Given the description of an element on the screen output the (x, y) to click on. 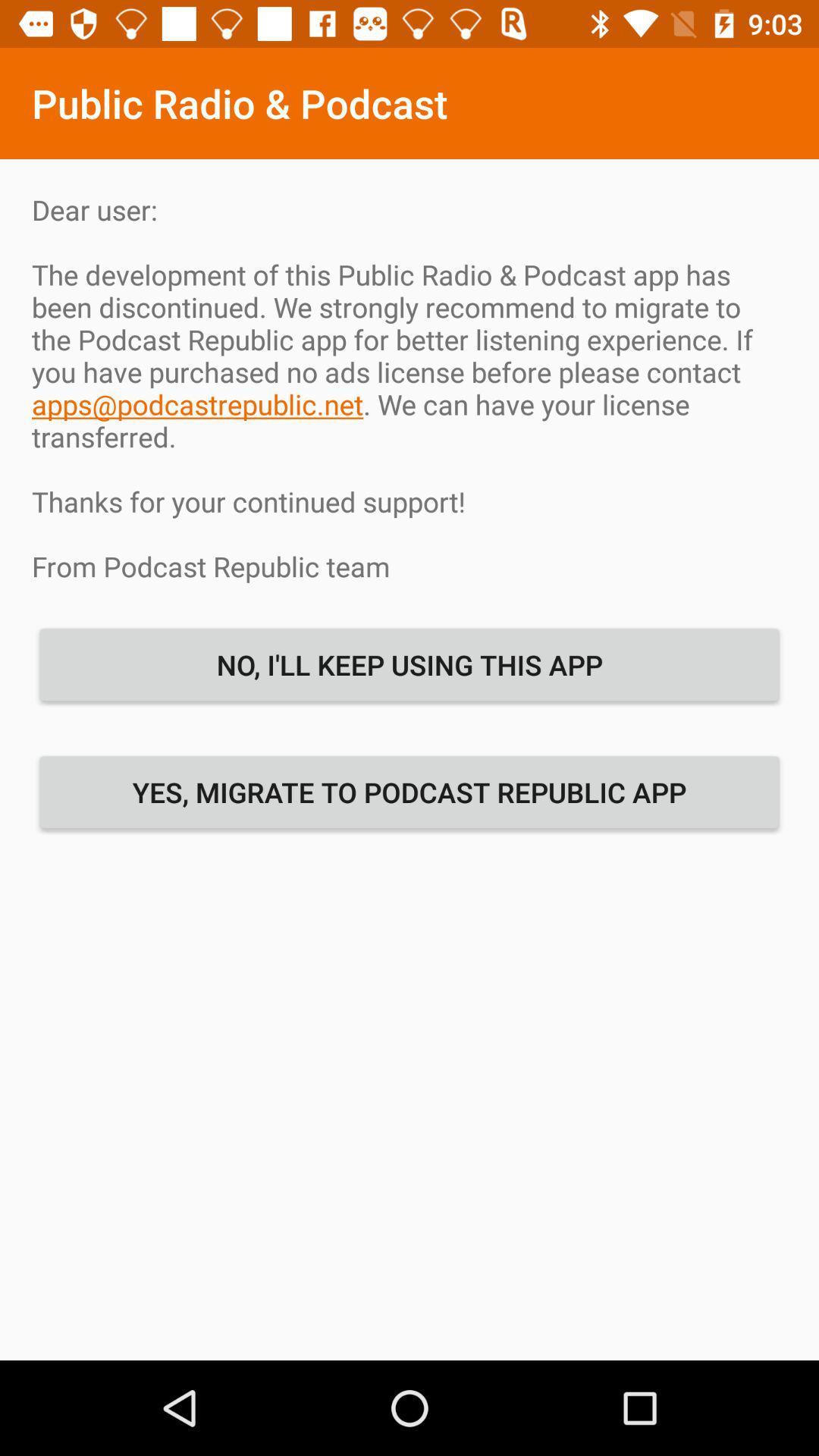
turn off no i ll item (409, 664)
